Given the description of an element on the screen output the (x, y) to click on. 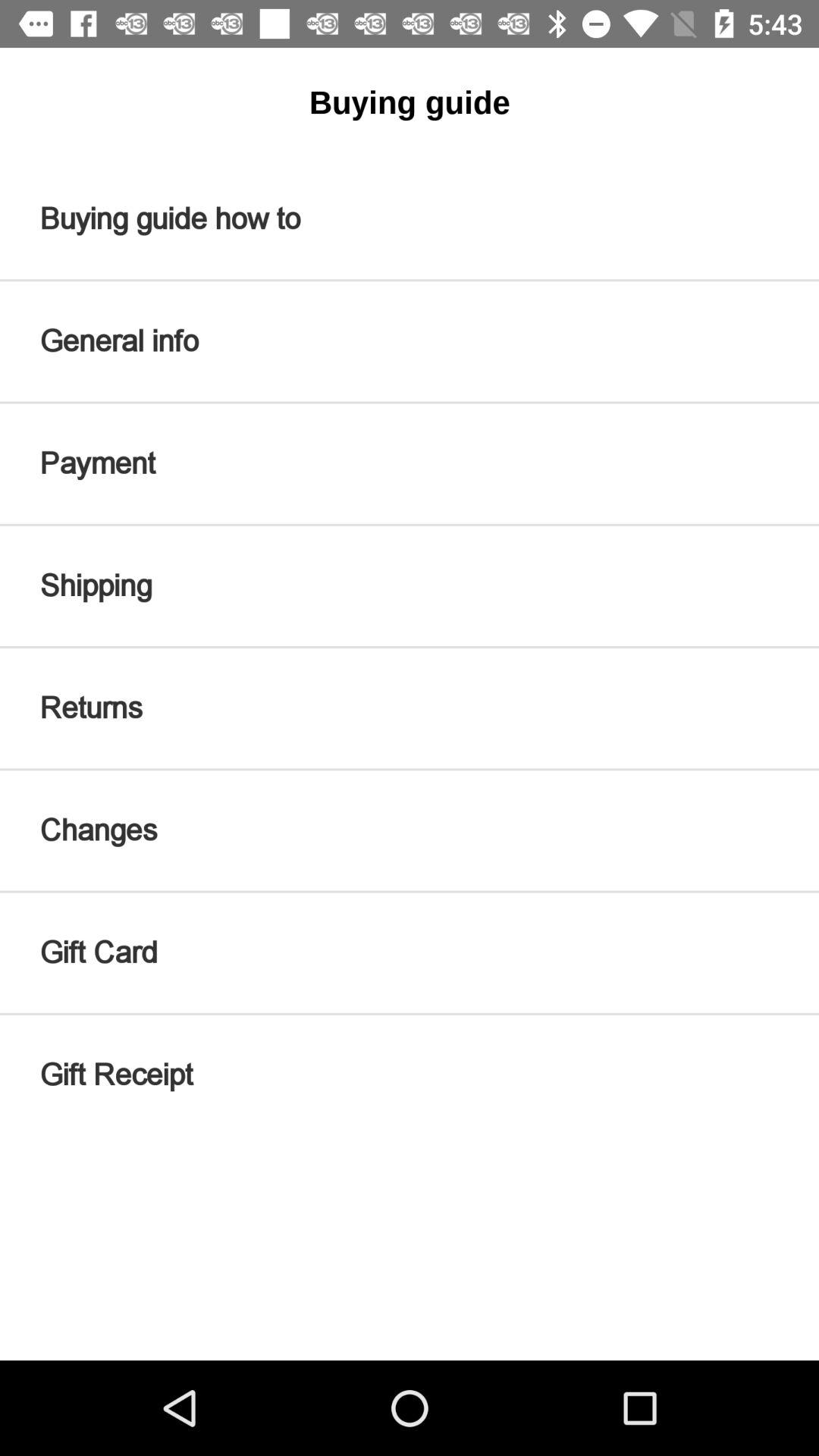
flip to shipping icon (409, 586)
